Given the description of an element on the screen output the (x, y) to click on. 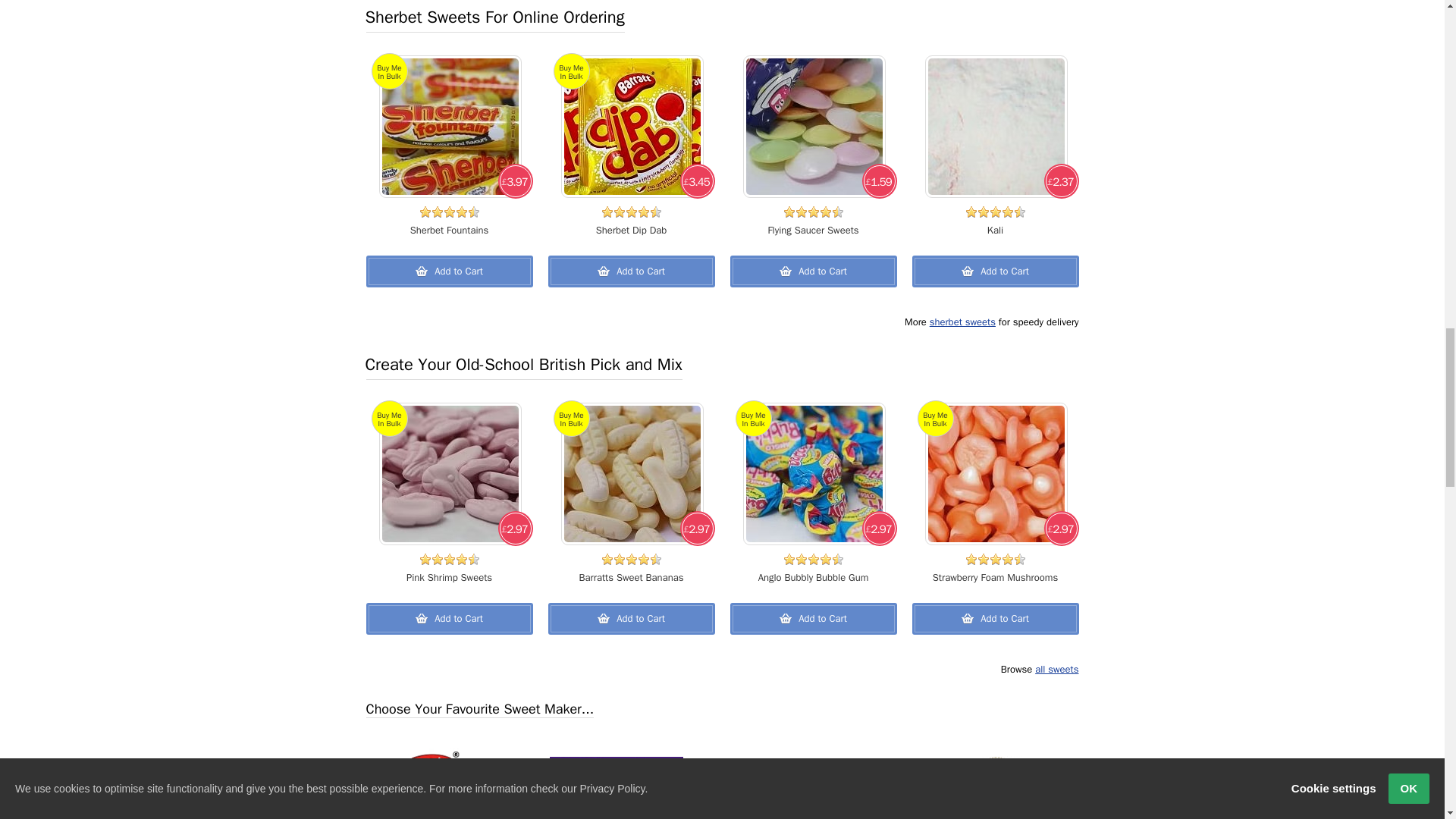
Sherbet Dip Dab (631, 126)
Flying Saucer Sweets (813, 126)
Pink Shrimp Sweets (449, 473)
Kali (995, 126)
Sherbet Fountains (449, 126)
